Given the description of an element on the screen output the (x, y) to click on. 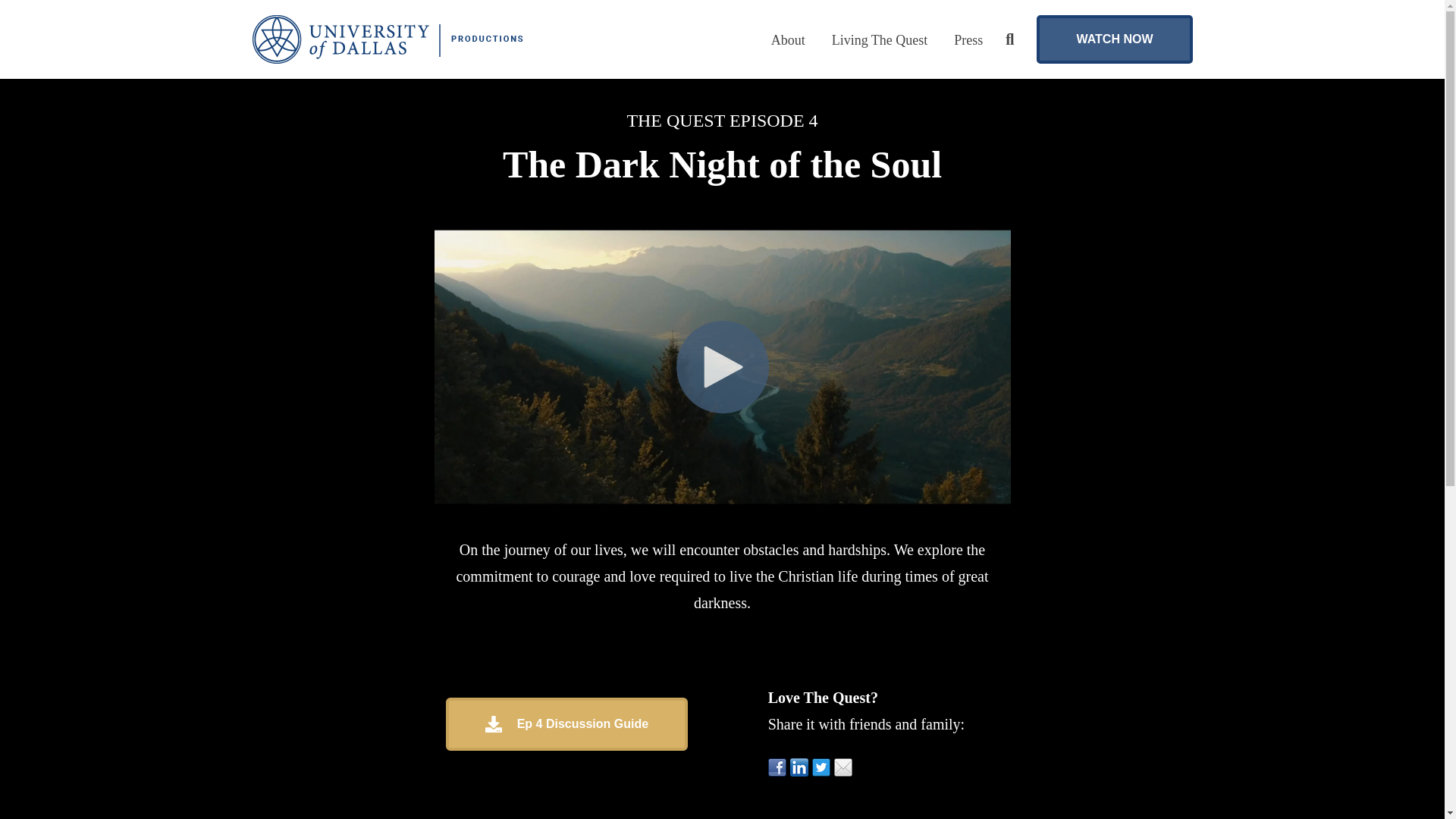
WATCH NOW (1114, 39)
Living The Quest (879, 38)
Press (967, 38)
About (788, 38)
Ep 4 Discussion Guide (566, 724)
